Given the description of an element on the screen output the (x, y) to click on. 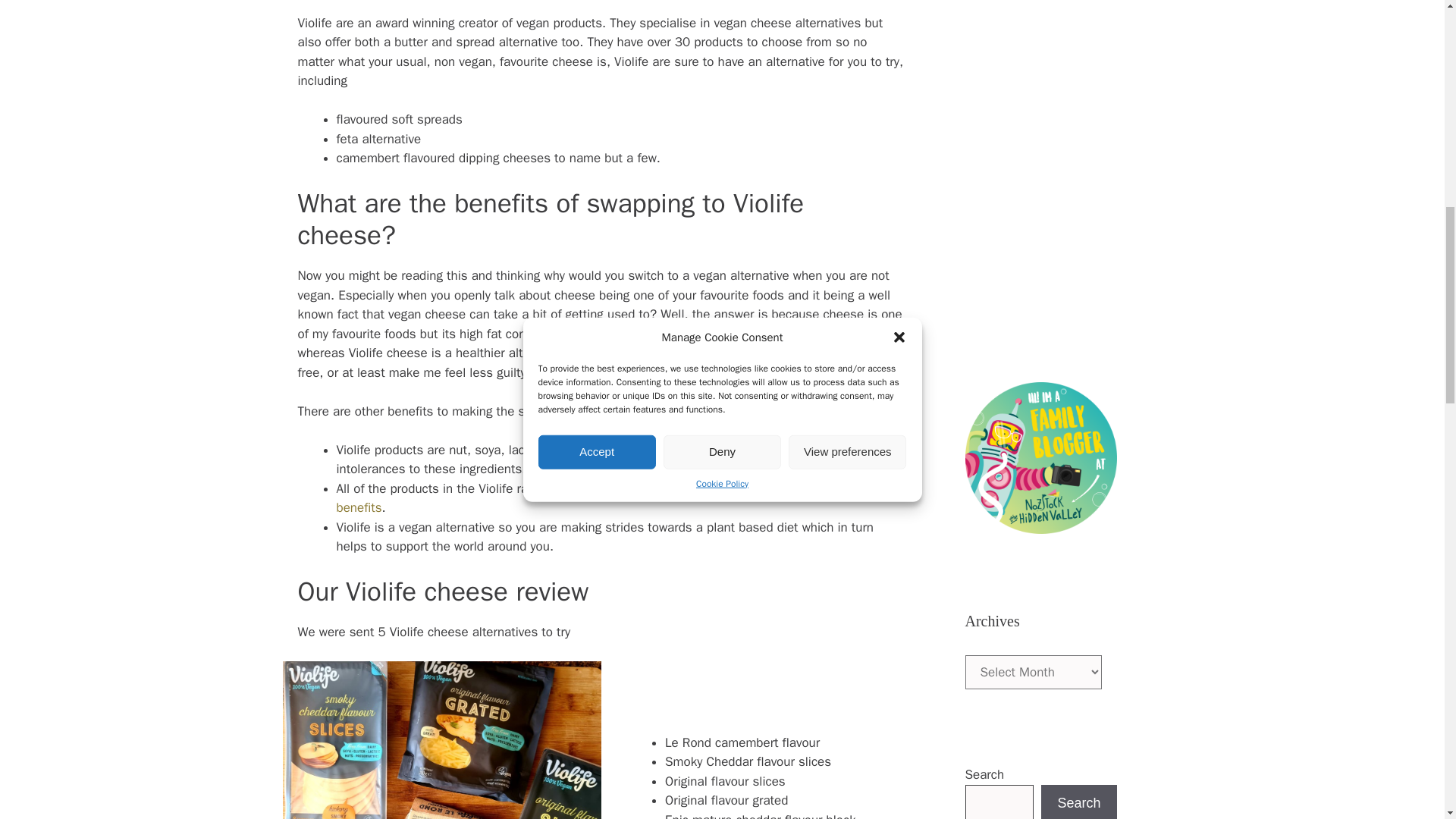
Scroll back to top (1406, 720)
